Given the description of an element on the screen output the (x, y) to click on. 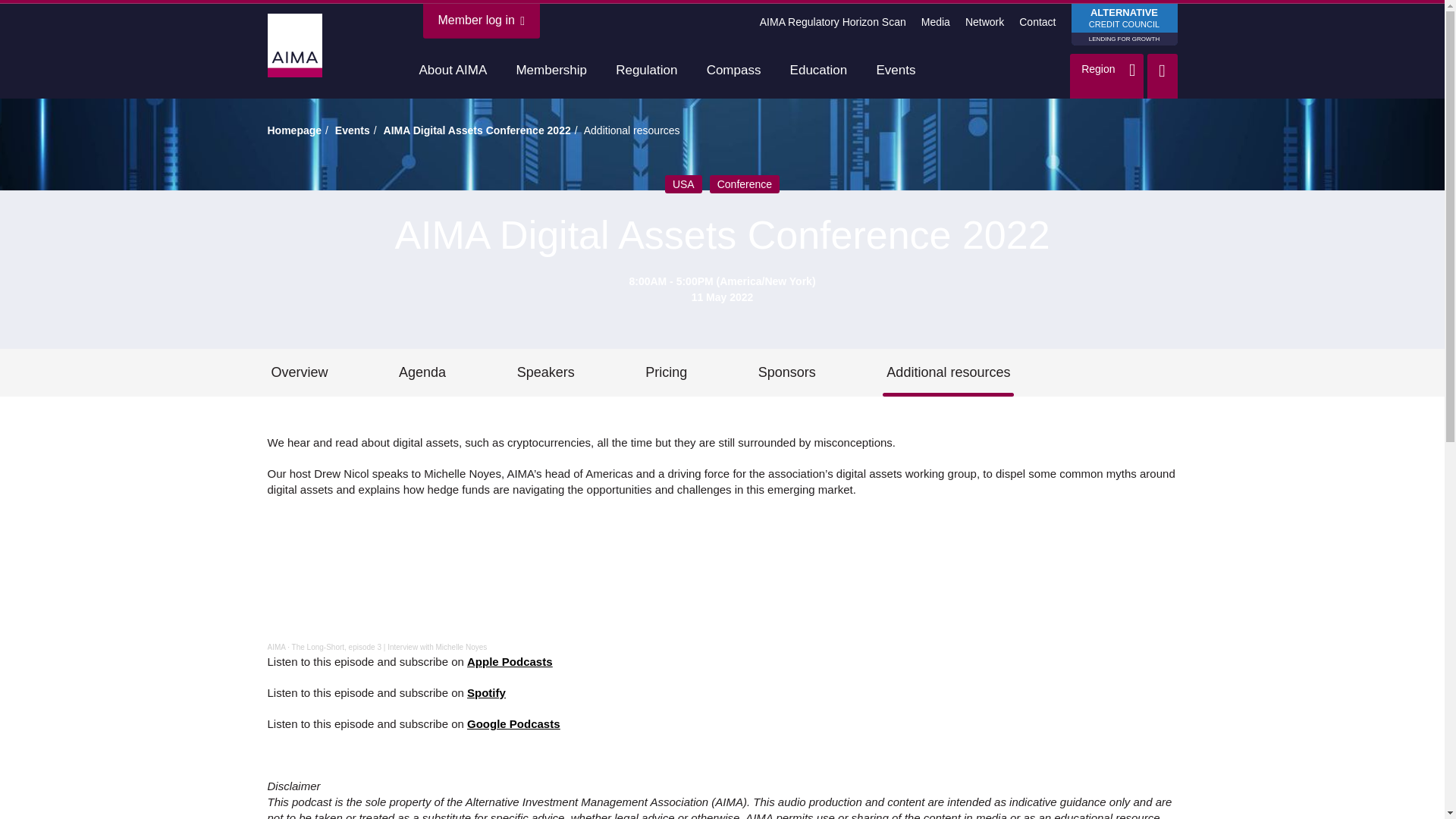
Contact (1037, 21)
About AIMA (453, 71)
Member log in (481, 20)
AIMA (275, 646)
Regulation (646, 71)
AIMA Regulatory Horizon Scan (832, 21)
Membership (1123, 24)
AIMA Regulatory Horizon Scan (550, 71)
Network (832, 21)
